Given the description of an element on the screen output the (x, y) to click on. 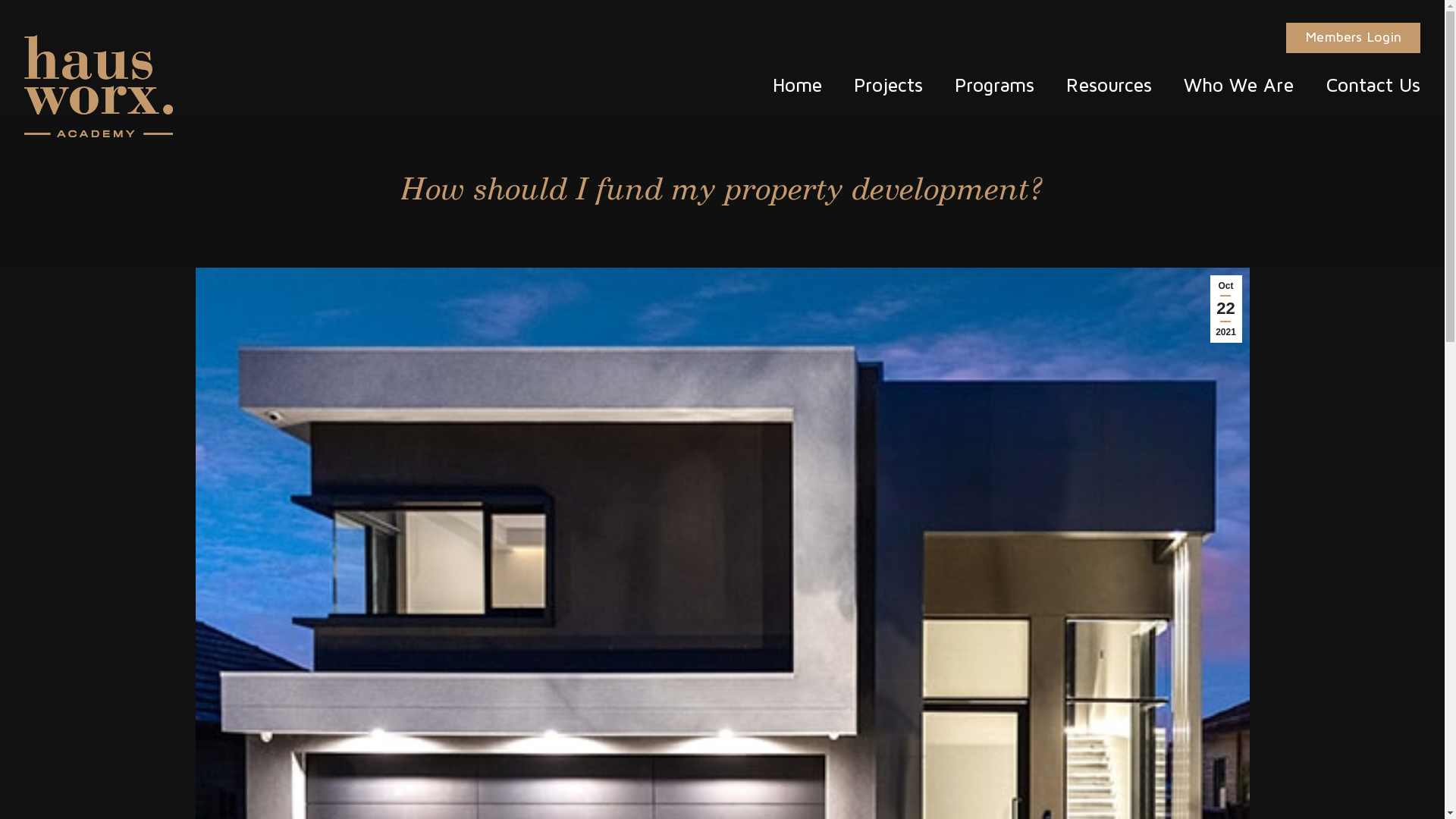
Programs Element type: text (994, 84)
Oct
22
2021 Element type: text (1226, 308)
Contact Us Element type: text (1365, 84)
Who We Are Element type: text (1238, 84)
Resources Element type: text (1109, 84)
Members Login Element type: text (1353, 37)
Home Element type: text (797, 84)
Projects Element type: text (888, 84)
